Given the description of an element on the screen output the (x, y) to click on. 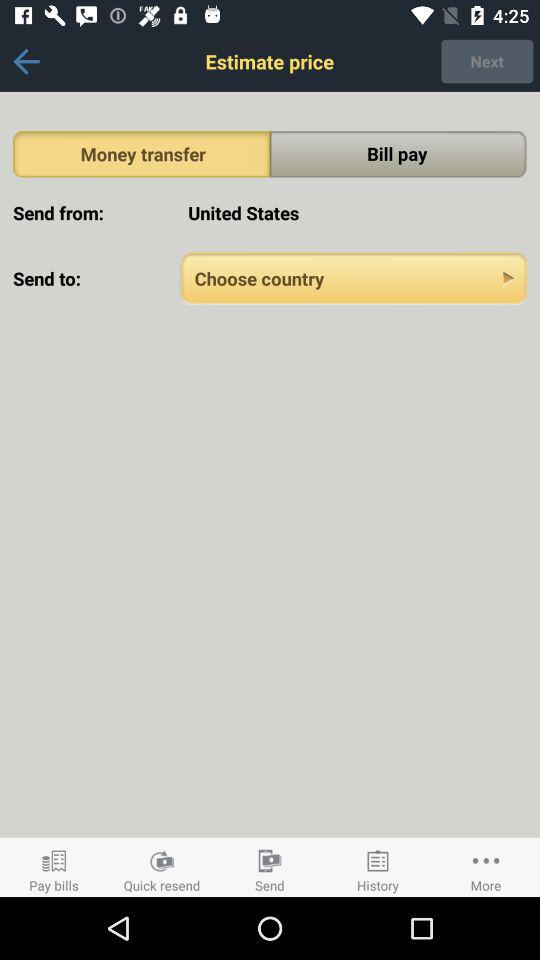
select location (353, 278)
